Given the description of an element on the screen output the (x, y) to click on. 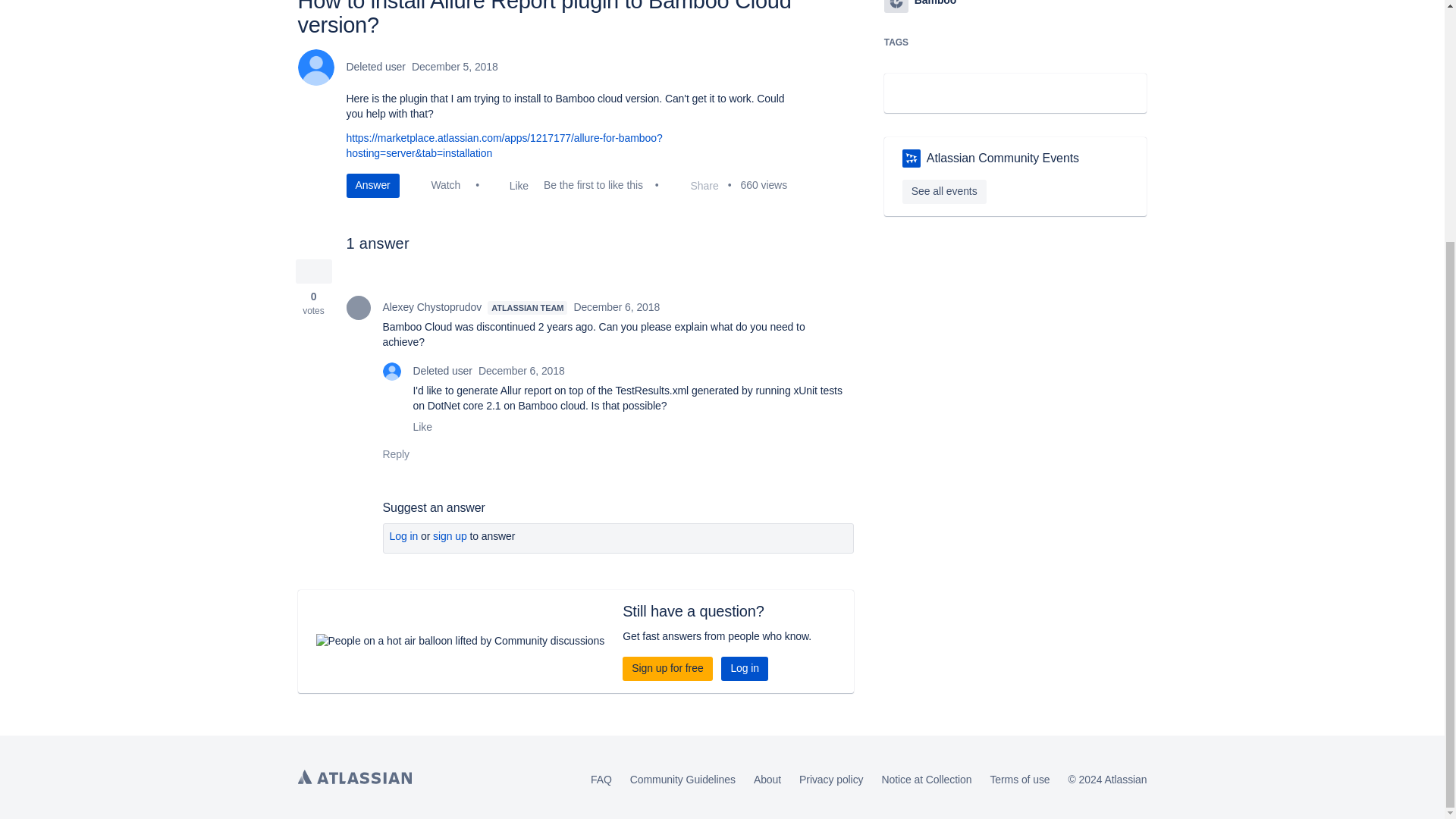
Alexey Chystoprudov (357, 307)
AUG Leaders (911, 158)
Bamboo (895, 6)
